Given the description of an element on the screen output the (x, y) to click on. 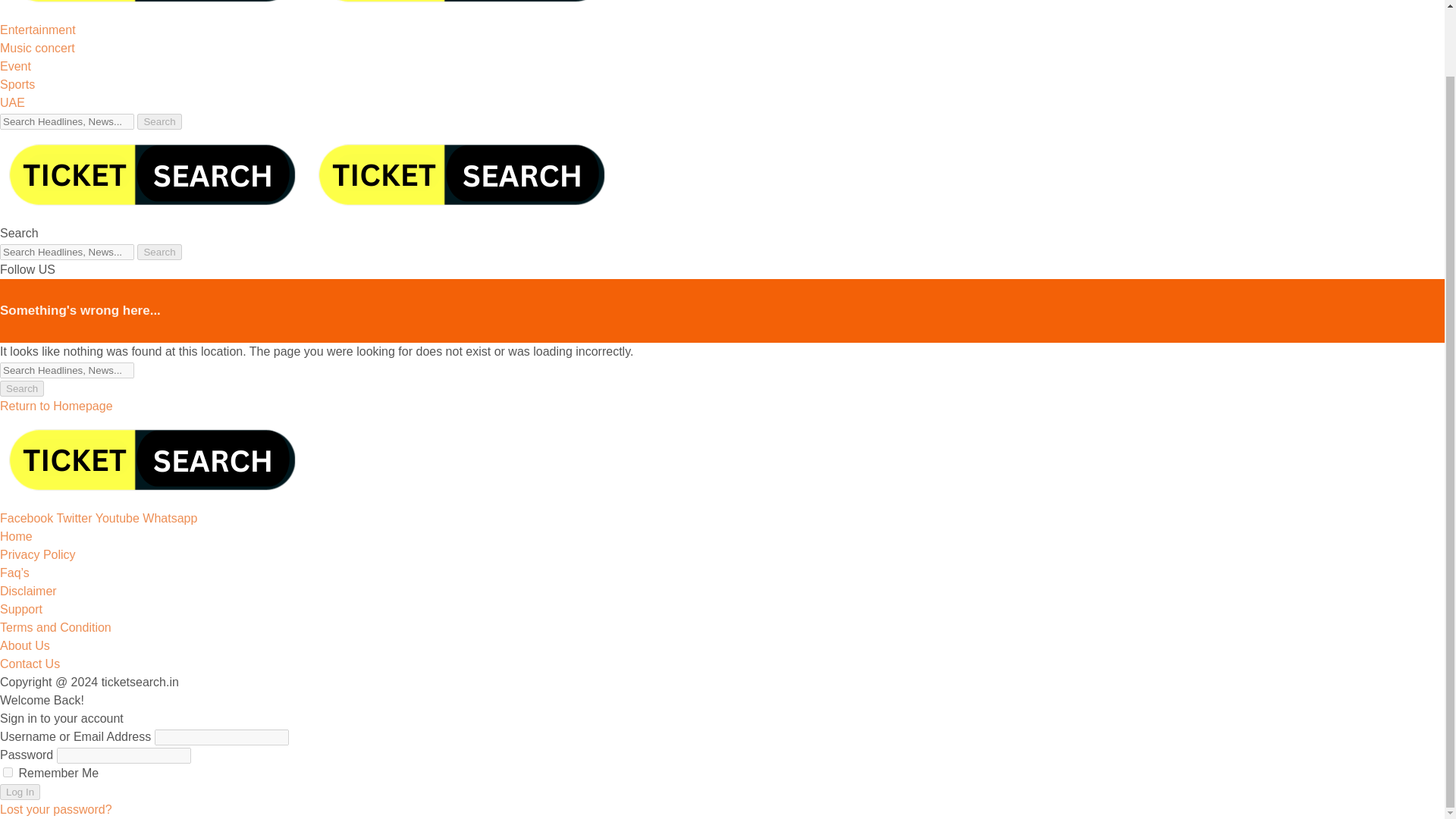
Terms and Condition (56, 626)
Search (158, 252)
Return to Homepage (56, 405)
Log In (20, 791)
Search (158, 121)
About Us (24, 645)
Youtube (119, 517)
UAE (12, 102)
Search (158, 252)
Search (21, 388)
Event (15, 65)
Lost your password? (56, 809)
Facebook (28, 517)
Contact Us (29, 663)
Search (158, 121)
